Given the description of an element on the screen output the (x, y) to click on. 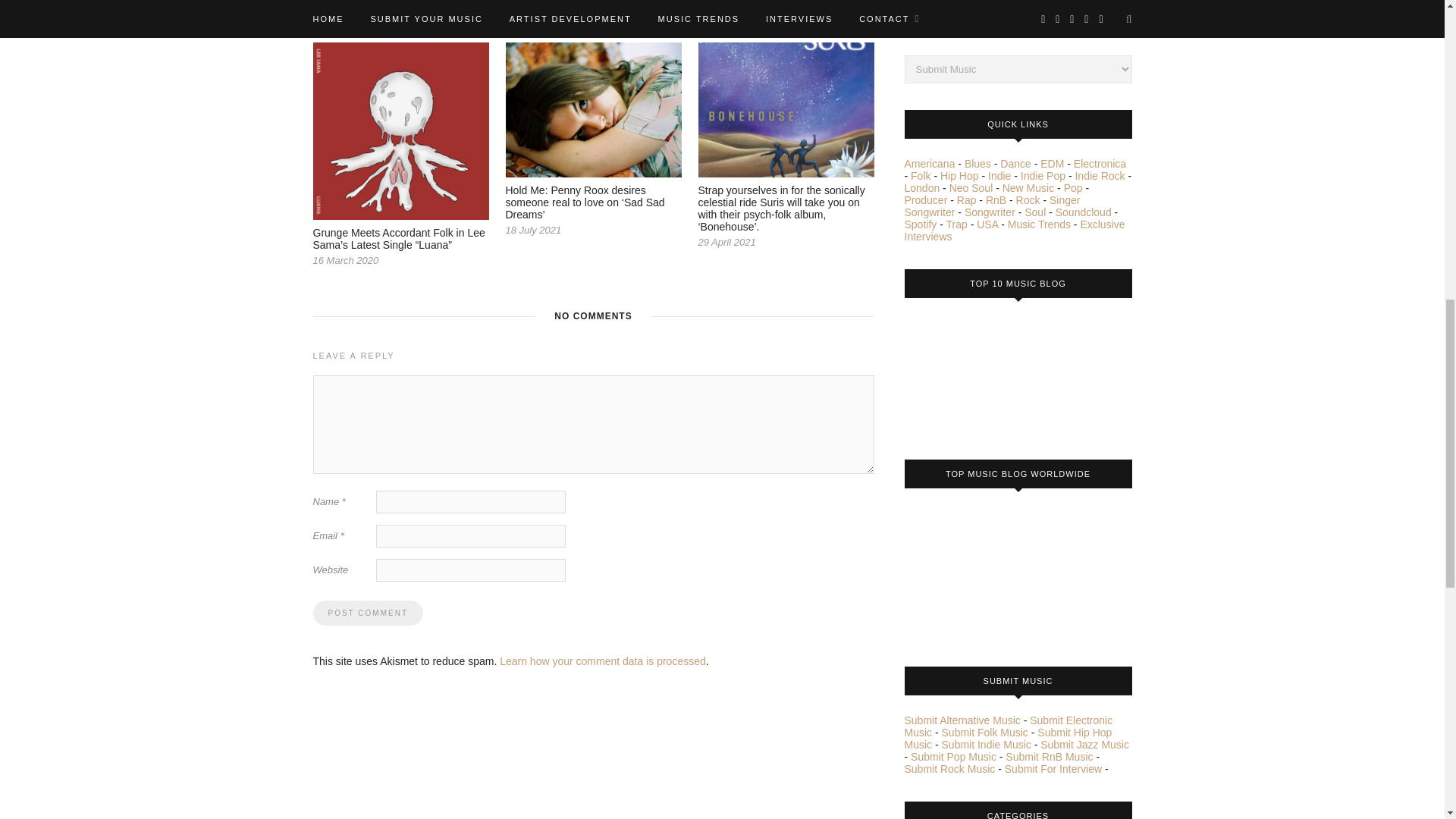
Learn how your comment data is processed (602, 661)
Post Comment (367, 612)
Post Comment (367, 612)
Top 10 Music Blog (960, 373)
